Given the description of an element on the screen output the (x, y) to click on. 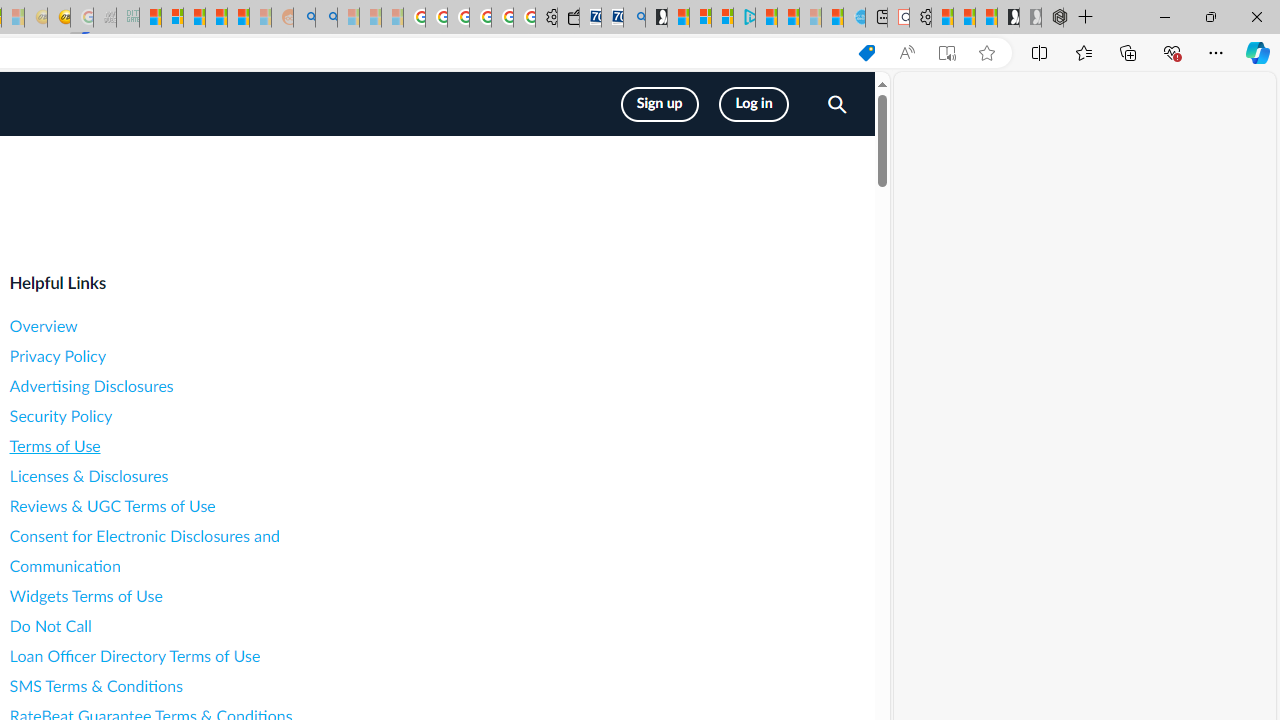
Security Policy (188, 416)
Bing Real Estate - Home sales and rental listings (634, 17)
Utah sues federal government - Search (326, 17)
Sign up (659, 104)
Reviews & UGC Terms of Use (188, 506)
